Given the description of an element on the screen output the (x, y) to click on. 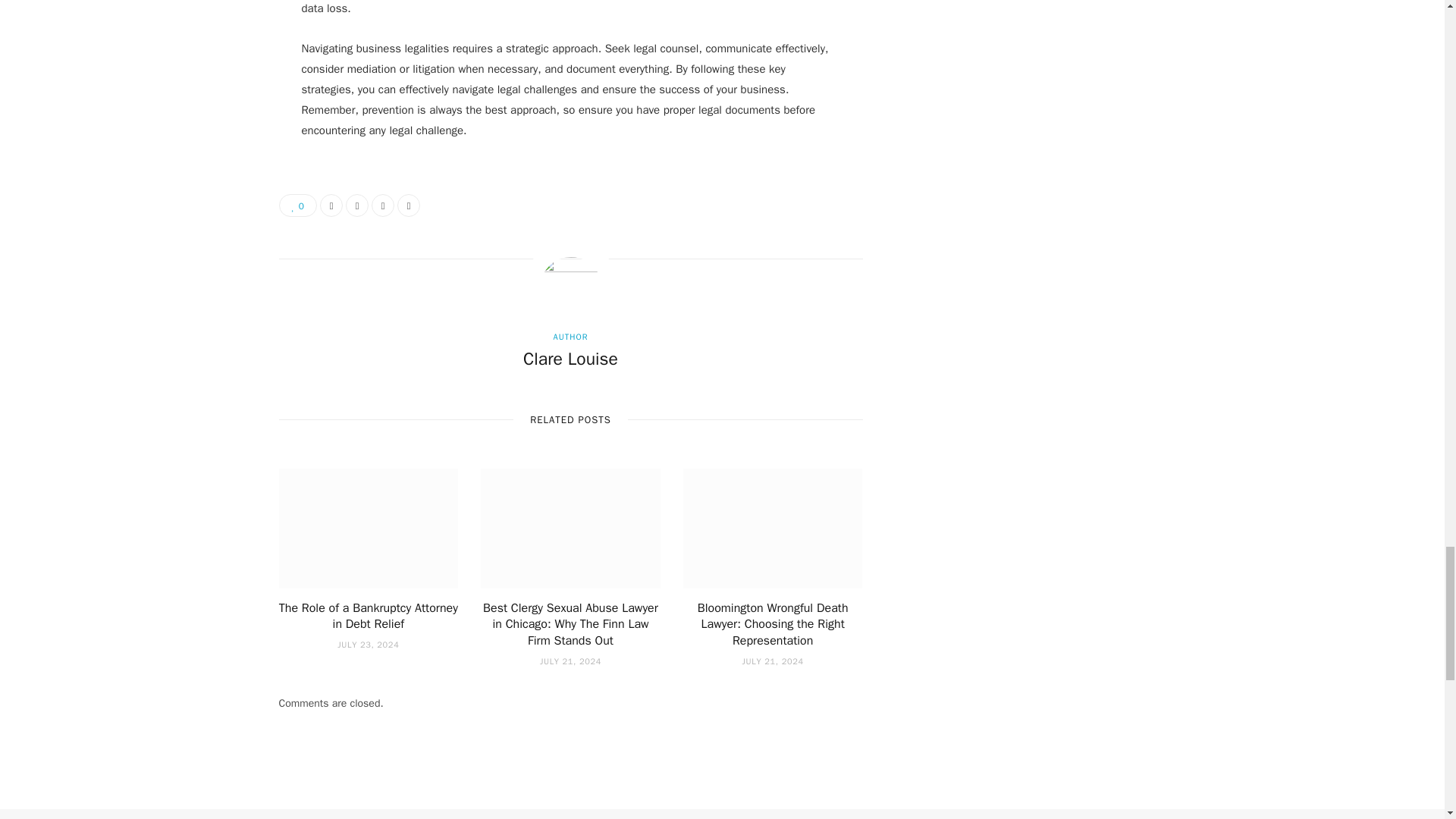
The Role of a Bankruptcy Attorney in Debt Relief (368, 616)
0 (298, 205)
JULY 21, 2024 (570, 661)
Share on Facebook (331, 205)
Clare Louise (569, 359)
Share on Twitter (357, 205)
JULY 23, 2024 (367, 644)
